Given the description of an element on the screen output the (x, y) to click on. 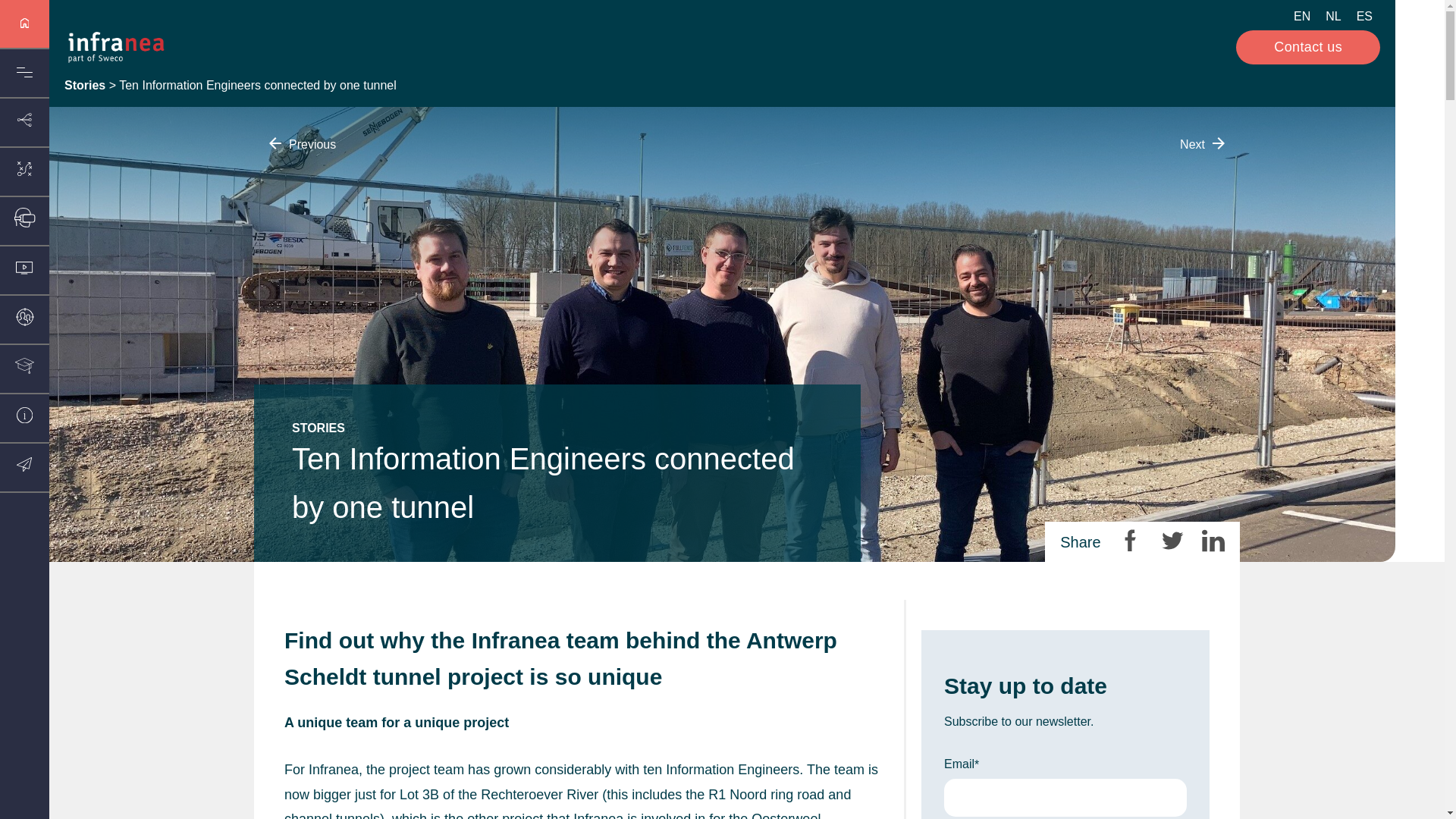
Stories (84, 84)
Previous (301, 144)
EN (1301, 15)
Personal Development at Infranea (1202, 144)
ES (1364, 15)
Contact us (1308, 47)
Christian's switch to 3D modelling (301, 144)
Next (1202, 144)
NL (1332, 15)
